Given the description of an element on the screen output the (x, y) to click on. 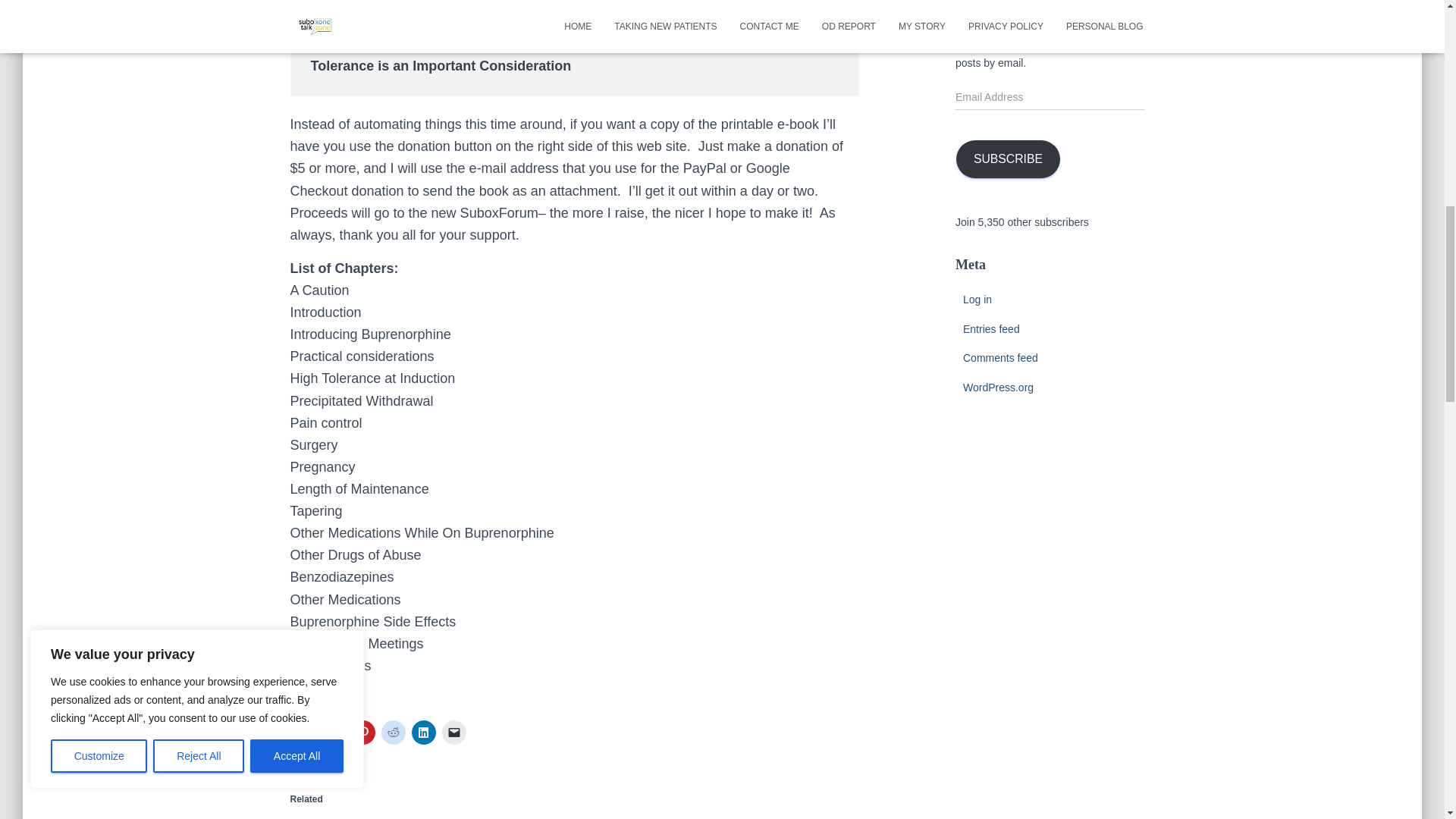
Click to share on Facebook (331, 732)
Click to share on Twitter (301, 732)
Click to share on LinkedIn (422, 732)
Click to share on Pinterest (362, 732)
Tolerance is an Important Consideration (441, 65)
Click to share on Reddit (392, 732)
